Given the description of an element on the screen output the (x, y) to click on. 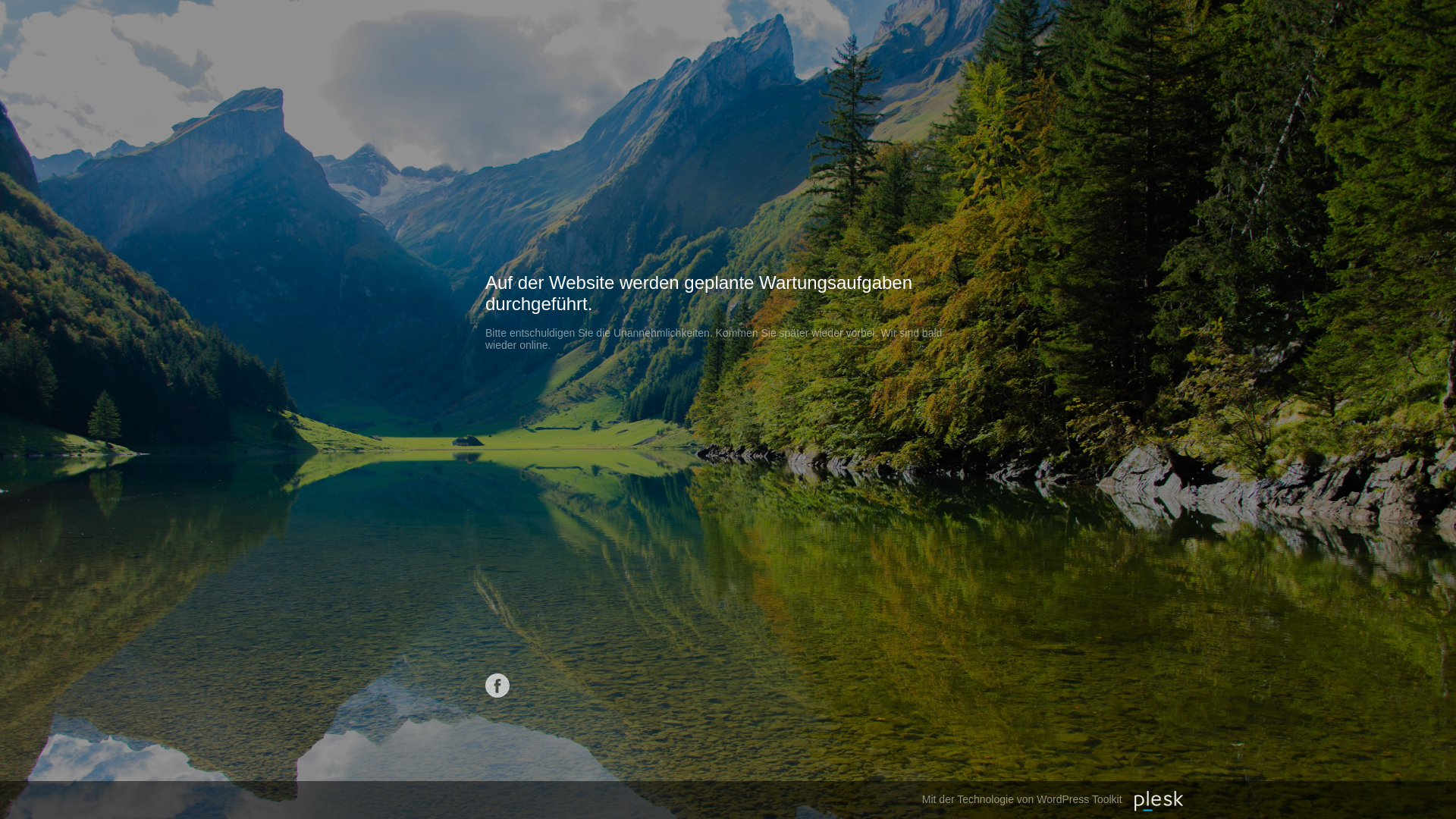
Facebook Element type: hover (497, 685)
